Given the description of an element on the screen output the (x, y) to click on. 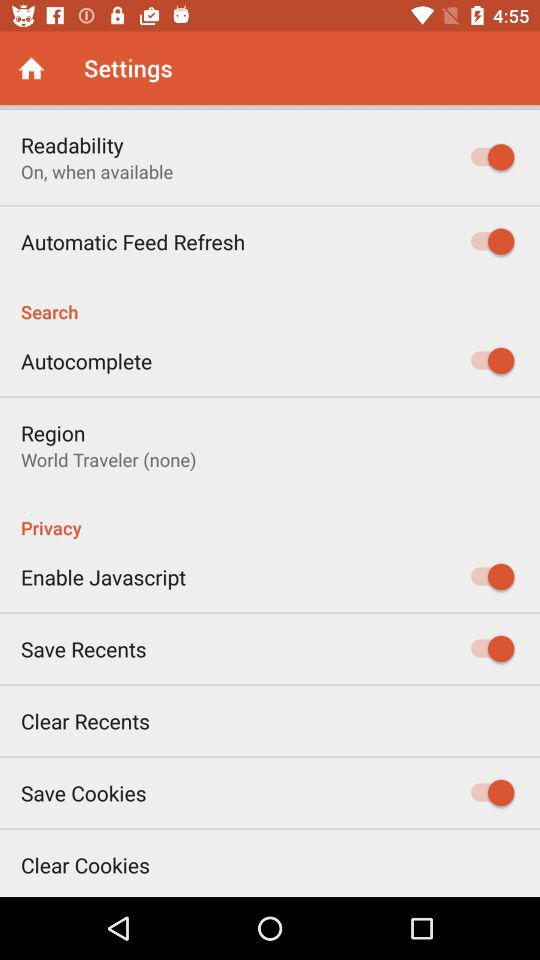
select world traveler (none) item (108, 459)
